Given the description of an element on the screen output the (x, y) to click on. 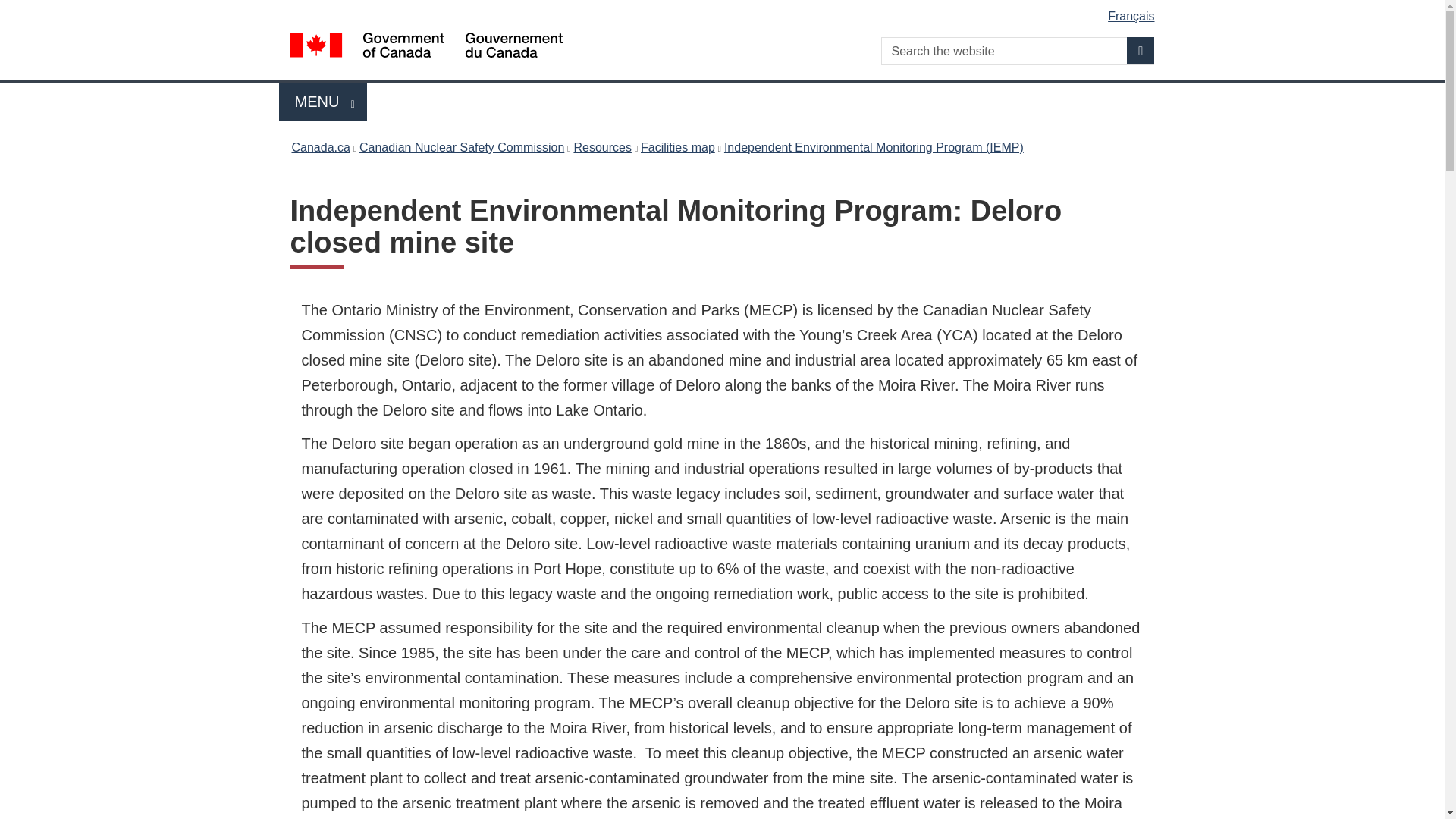
Skip to main content (725, 11)
Facilities map (322, 101)
Resources (677, 147)
Canada.ca (601, 147)
Canadian Nuclear Safety Commission (320, 147)
Search (461, 147)
